Given the description of an element on the screen output the (x, y) to click on. 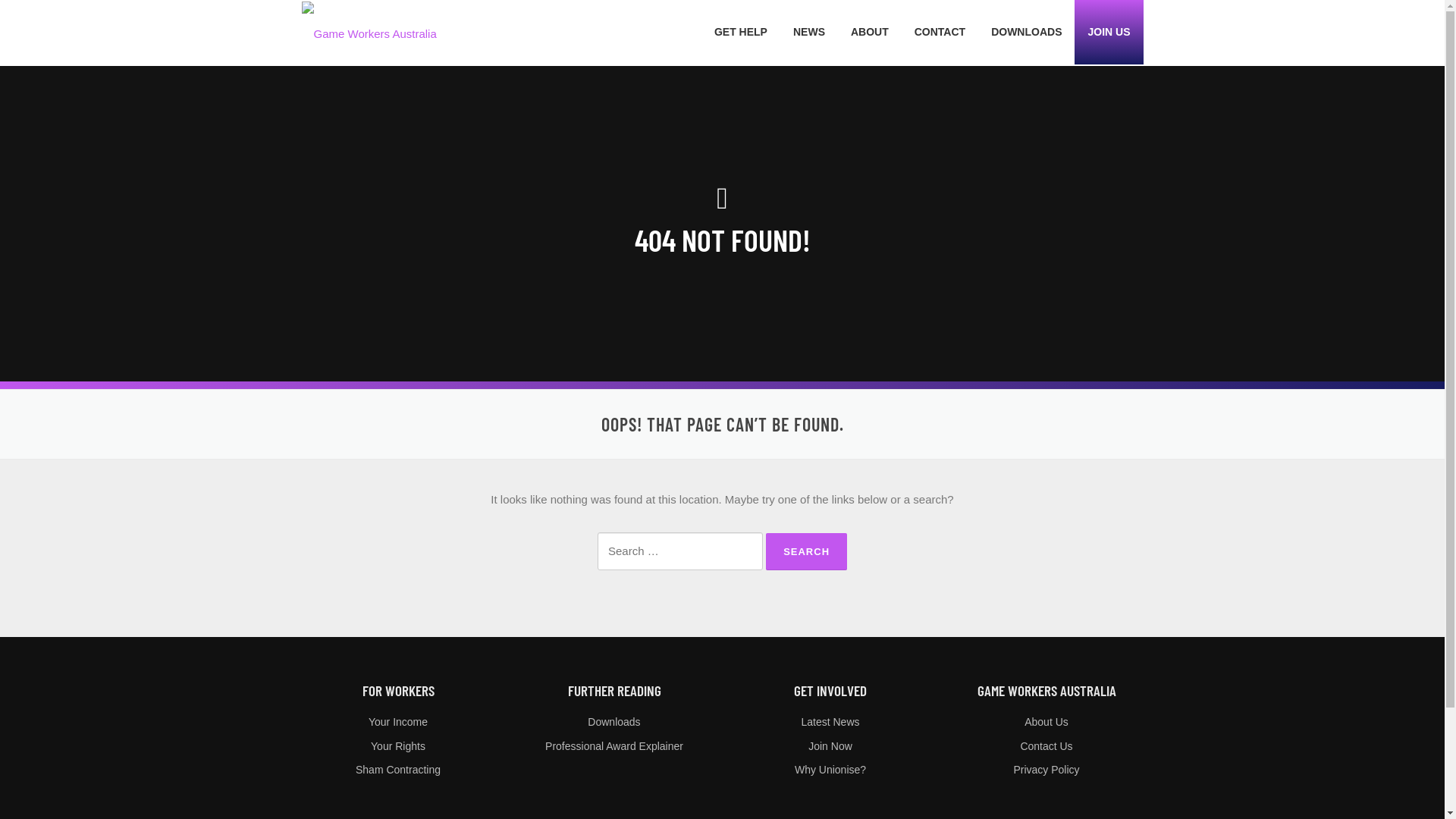
JOIN US Element type: text (1108, 32)
Downloads Element type: text (613, 721)
Professional Award Explainer Element type: text (614, 746)
GET HELP Element type: text (740, 32)
Contact Us Element type: text (1045, 746)
Sham Contracting Element type: text (397, 769)
Latest News Element type: text (829, 721)
About Us Element type: text (1046, 721)
Why Unionise? Element type: text (830, 769)
Privacy Policy Element type: text (1046, 769)
DOWNLOADS Element type: text (1026, 32)
Join Now Element type: text (830, 746)
ABOUT Element type: text (869, 32)
Your Income Element type: text (397, 721)
NEWS Element type: text (808, 32)
Your Rights Element type: text (397, 746)
CONTACT Element type: text (939, 32)
Search Element type: text (806, 551)
